Given the description of an element on the screen output the (x, y) to click on. 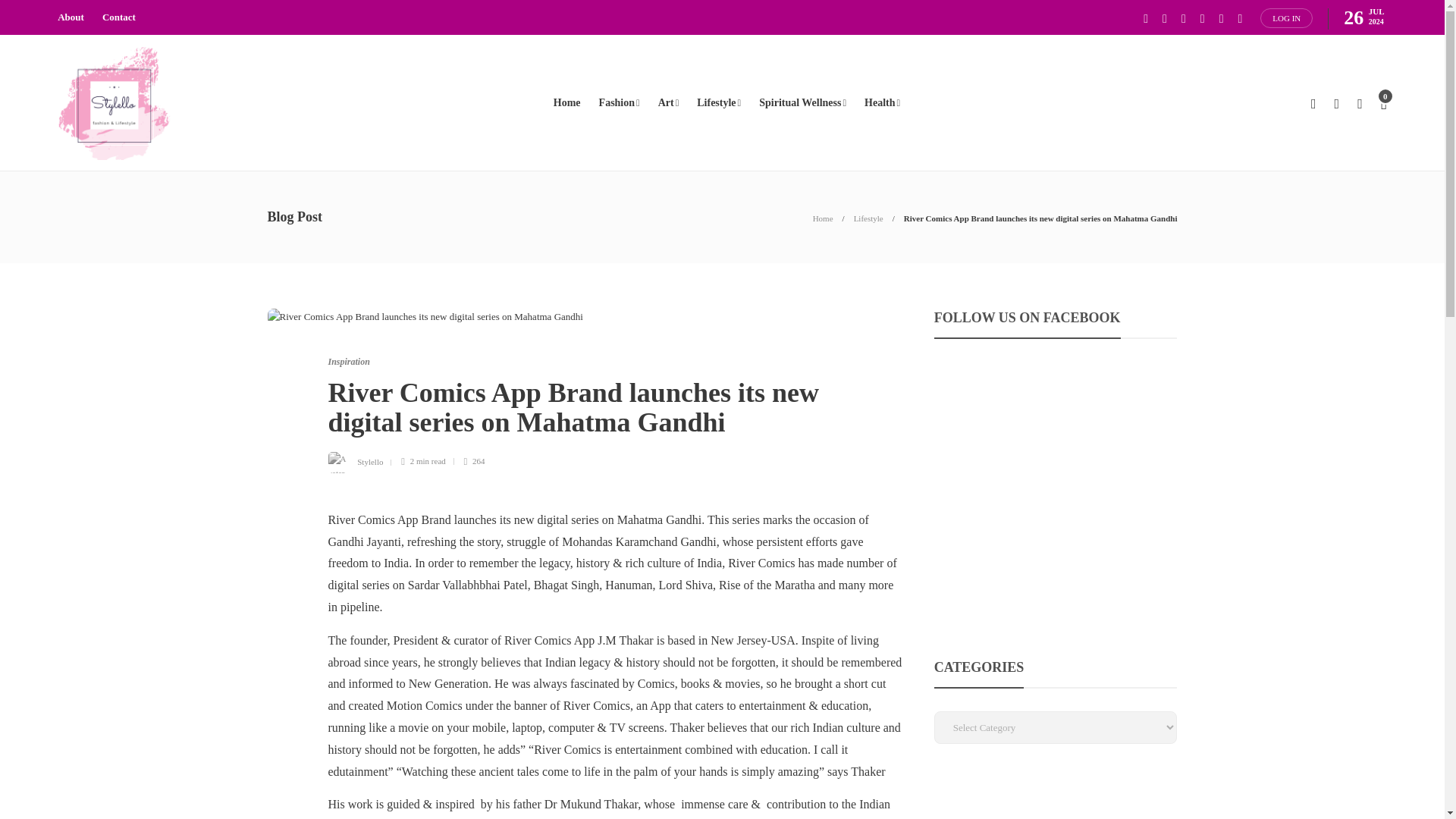
LOG IN (1286, 17)
Home (822, 217)
Contact (118, 17)
